Given the description of an element on the screen output the (x, y) to click on. 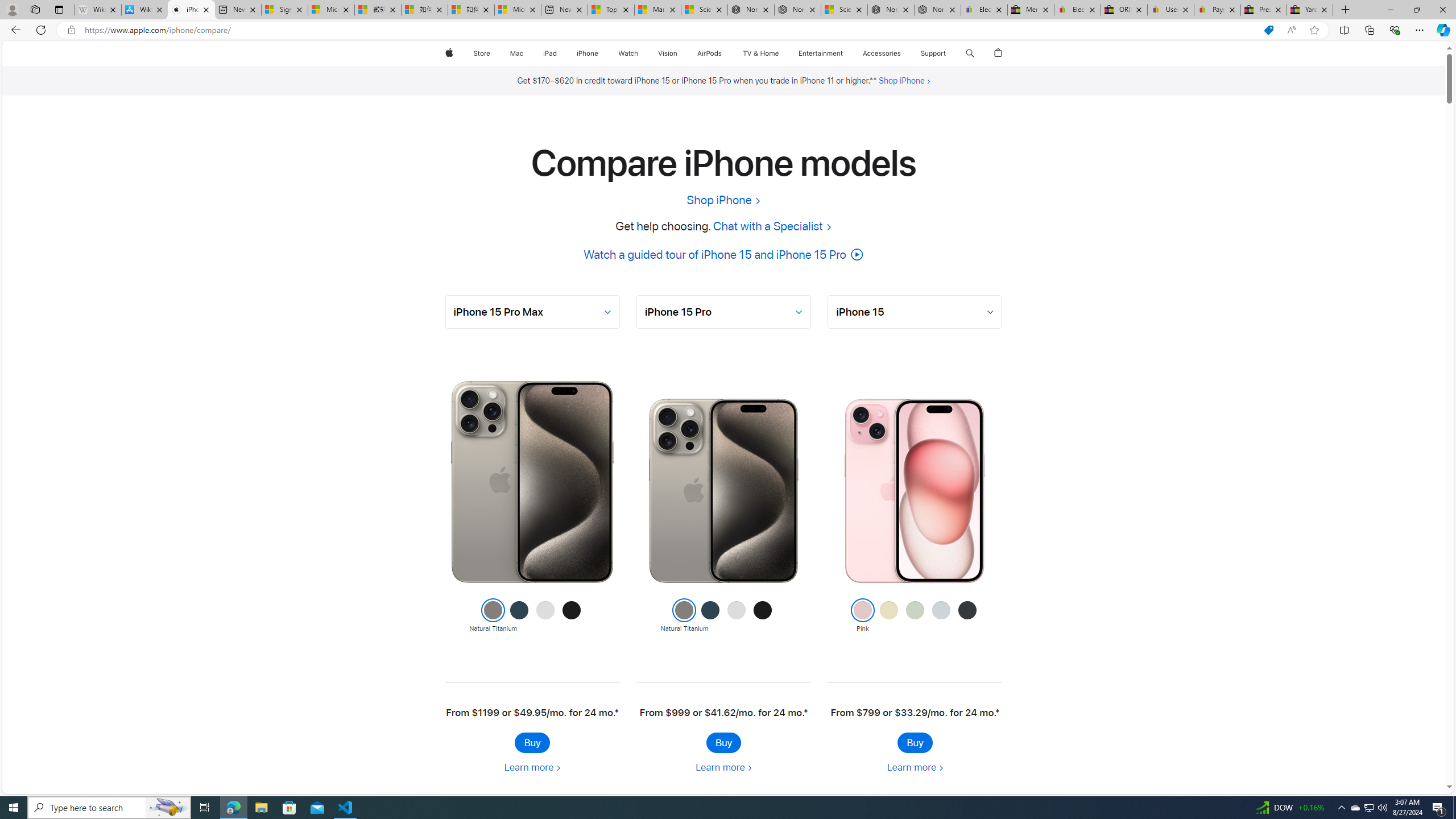
Support (932, 53)
Shopping Bag (998, 53)
iPad (550, 53)
Watch menu (640, 53)
Footnote * symbol (997, 712)
Mac (516, 53)
TV and Home menu (780, 53)
Store (481, 53)
Class: globalnav-item globalnav-search shift-0-1 (969, 53)
Accessories (881, 53)
iPad menu (557, 53)
